Given the description of an element on the screen output the (x, y) to click on. 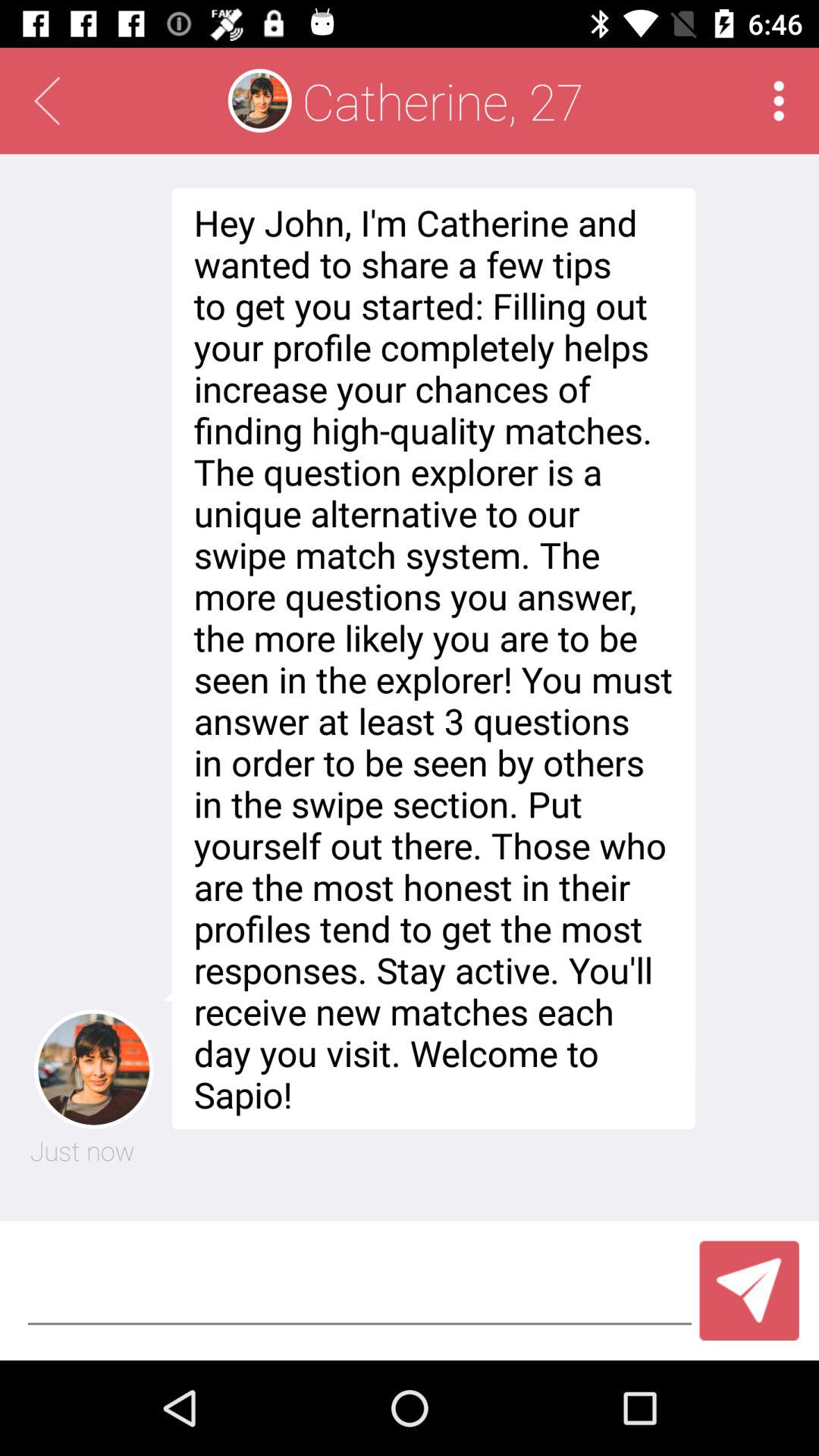
go back (46, 100)
